Given the description of an element on the screen output the (x, y) to click on. 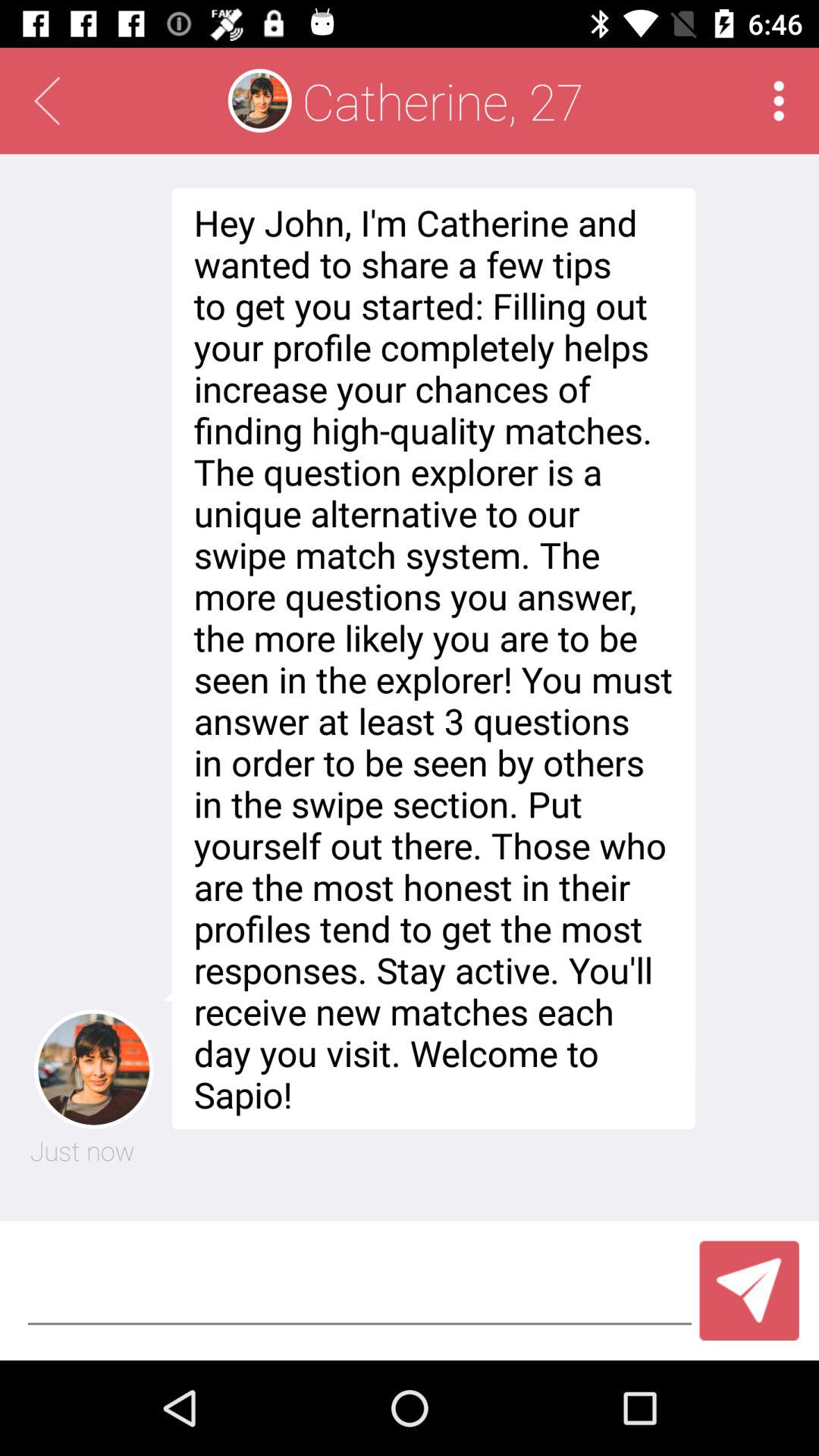
go back (46, 100)
